Given the description of an element on the screen output the (x, y) to click on. 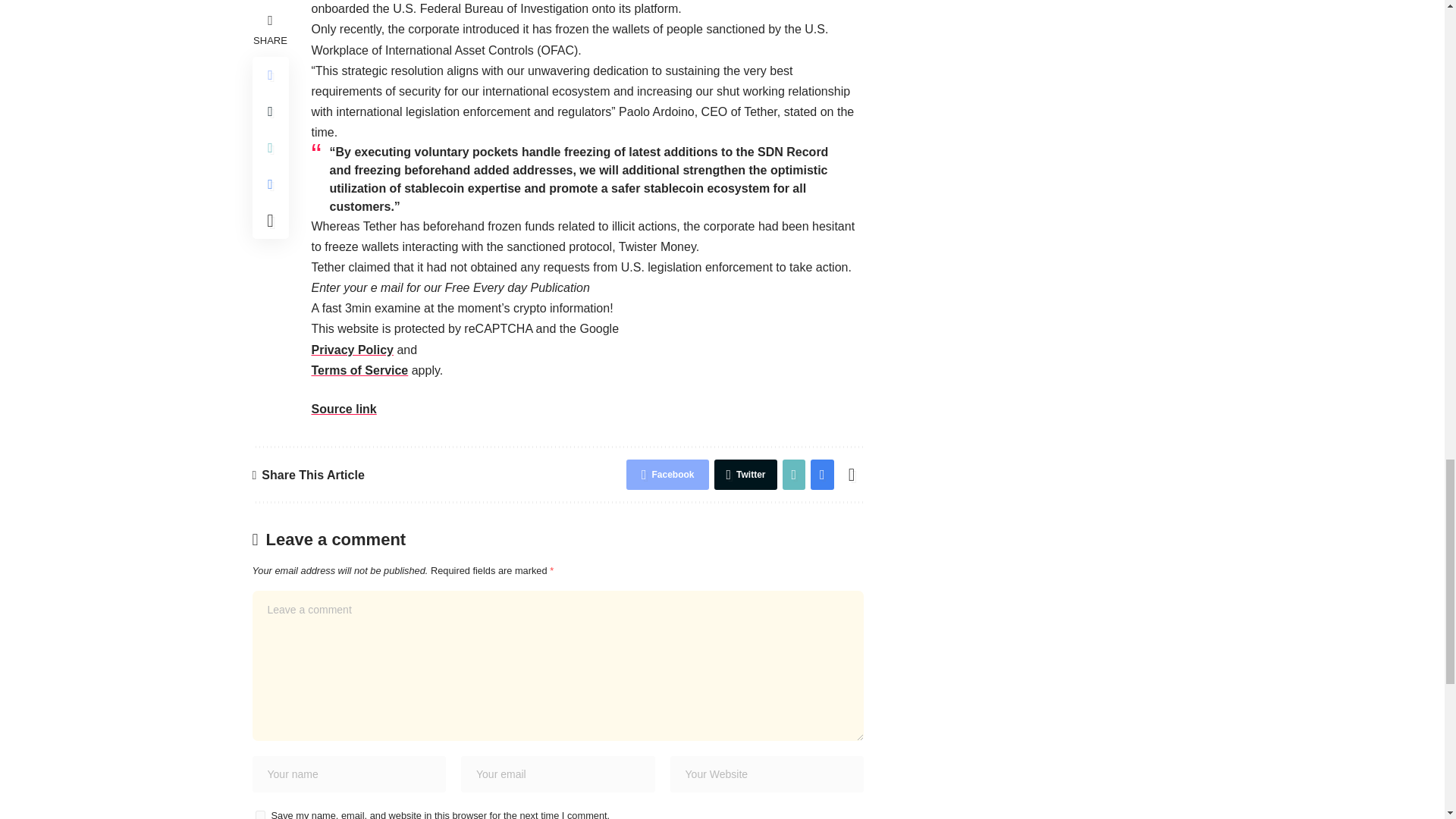
Facebook (668, 474)
Source link (343, 408)
Terms of Service (359, 369)
Twitter (745, 474)
Privacy Policy (352, 349)
yes (259, 814)
